Given the description of an element on the screen output the (x, y) to click on. 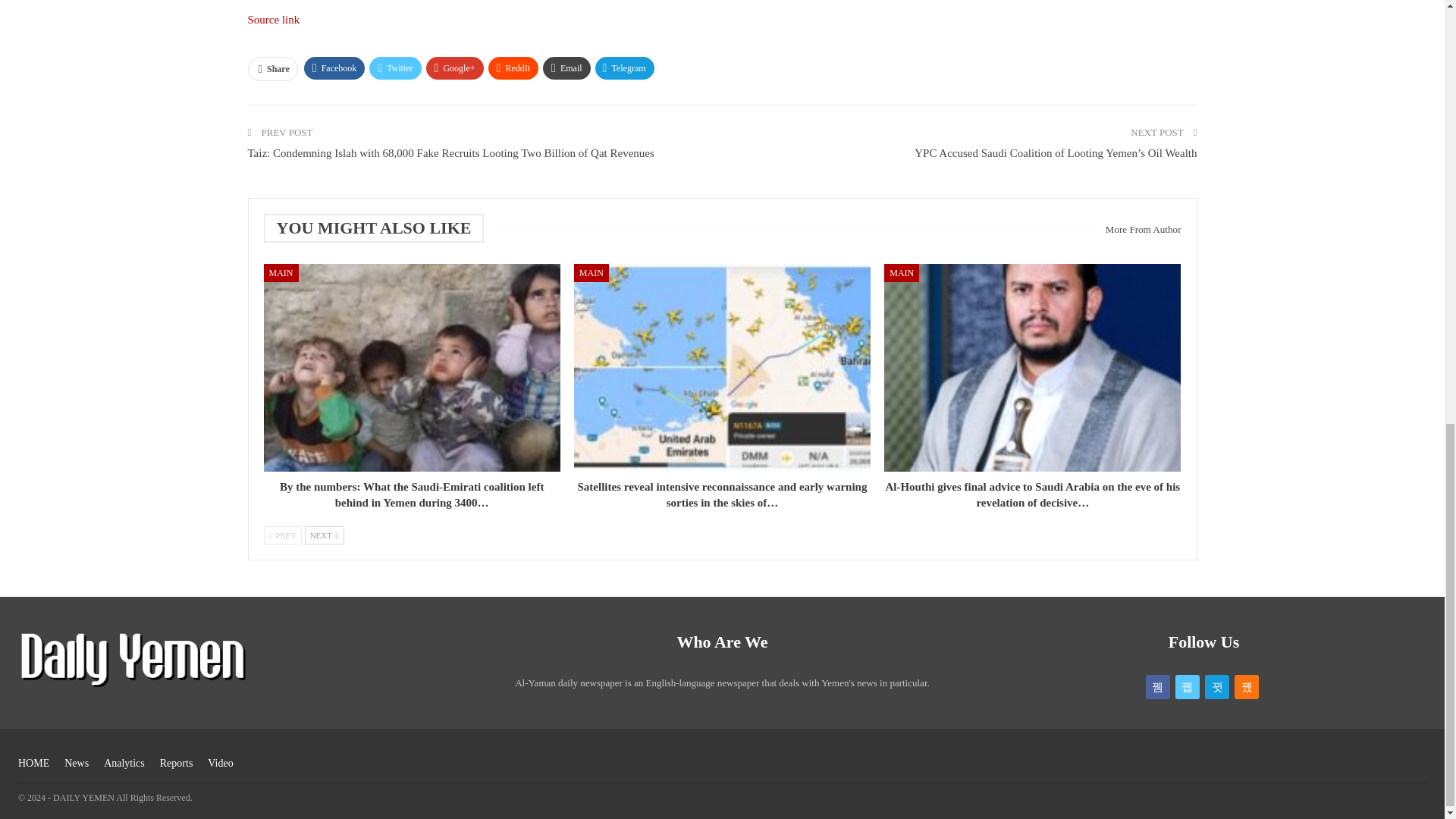
Next (323, 535)
Previous (282, 535)
Source link (273, 19)
